Given the description of an element on the screen output the (x, y) to click on. 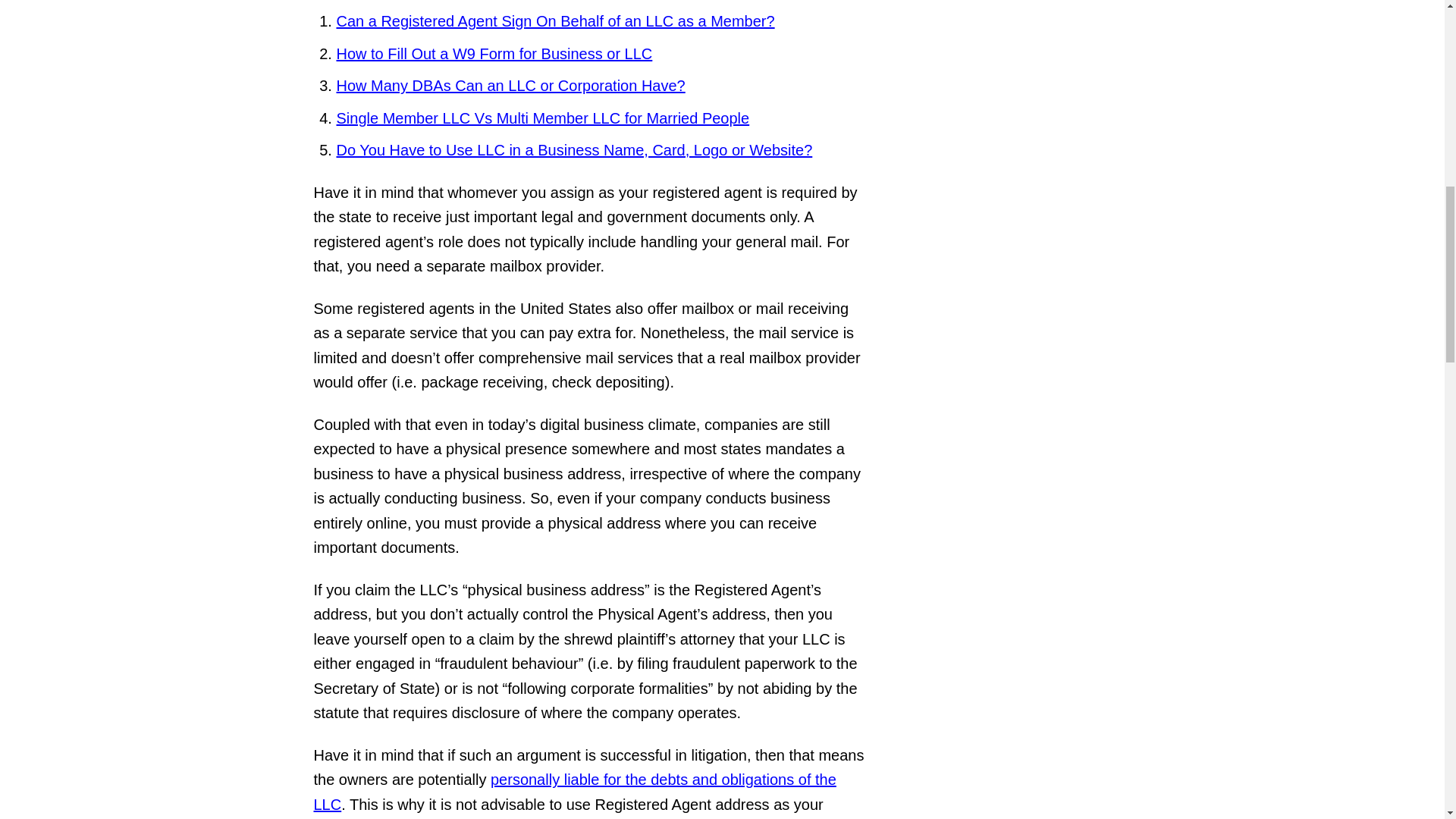
personally liable for the debts and obligations of the LLC (574, 792)
Can a Registered Agent Sign On Behalf of an LLC as a Member? (555, 21)
How to Fill Out a W9 Form for Business or LLC (494, 53)
Single Member LLC Vs Multi Member LLC for Married People (542, 117)
How to Fill Out a W9 Form for Business or LLC (494, 53)
How Many DBAs Can an LLC or Corporation Have? (510, 85)
Can a Registered Agent Sign On Behalf of an LLC as a Member? (555, 21)
How Many DBAs Can an LLC or Corporation Have? (510, 85)
Single Member LLC Vs Multi Member LLC for Married People (542, 117)
